Given the description of an element on the screen output the (x, y) to click on. 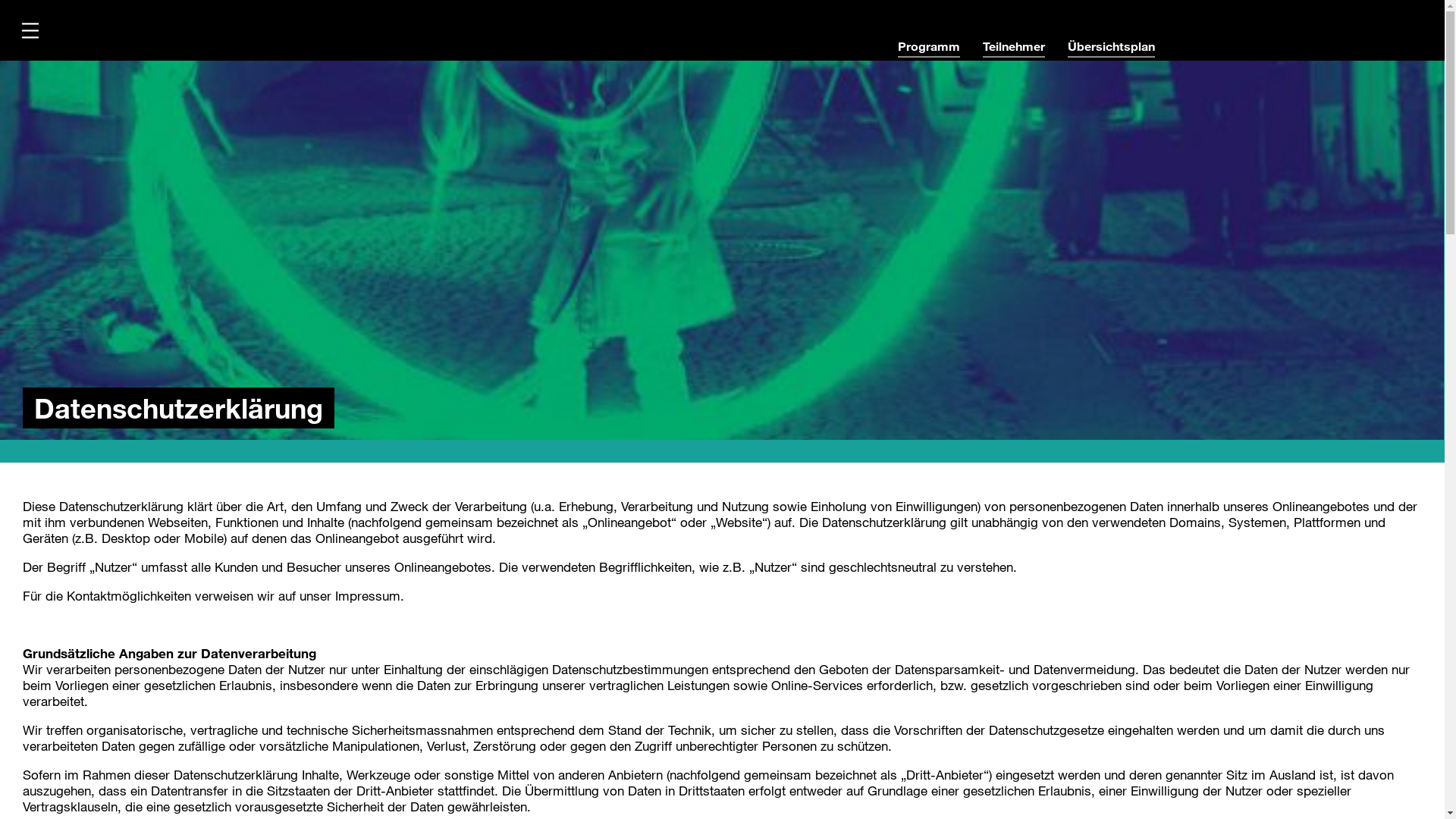
Programm Element type: text (928, 47)
Teilnehmer Element type: text (1013, 47)
